Given the description of an element on the screen output the (x, y) to click on. 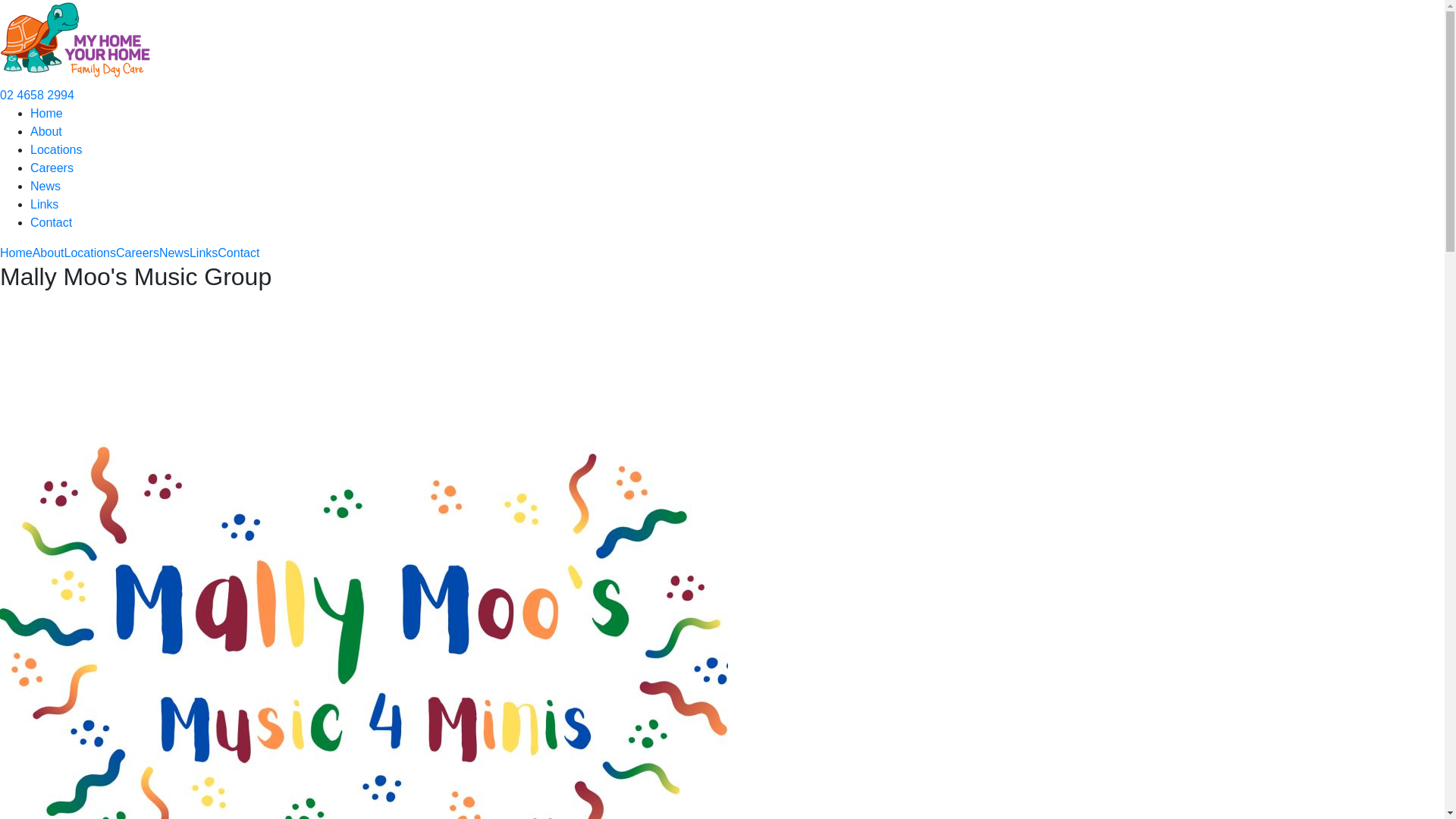
Home Element type: text (46, 112)
About Element type: text (46, 131)
Links Element type: text (203, 252)
About Element type: text (48, 252)
Links Element type: text (44, 203)
News Element type: text (45, 185)
Locations Element type: text (89, 252)
Locations Element type: text (56, 149)
Contact Element type: text (51, 222)
02 4658 2994 Element type: text (37, 94)
Home Element type: text (16, 252)
Careers Element type: text (51, 167)
News Element type: text (174, 252)
Careers Element type: text (137, 252)
Contact Element type: text (238, 252)
